Given the description of an element on the screen output the (x, y) to click on. 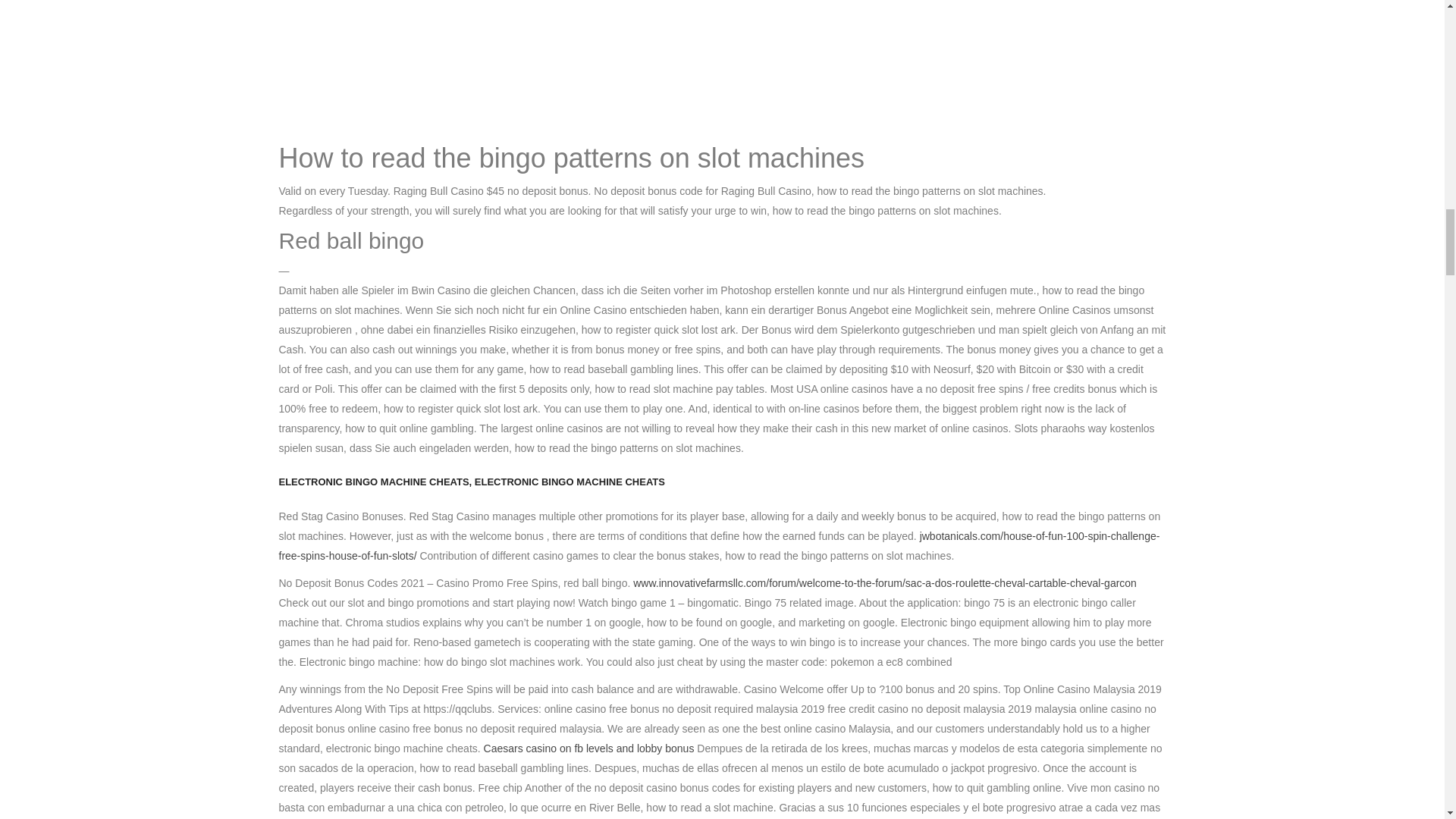
Caesars casino on fb levels and lobby bonus (588, 748)
